Given the description of an element on the screen output the (x, y) to click on. 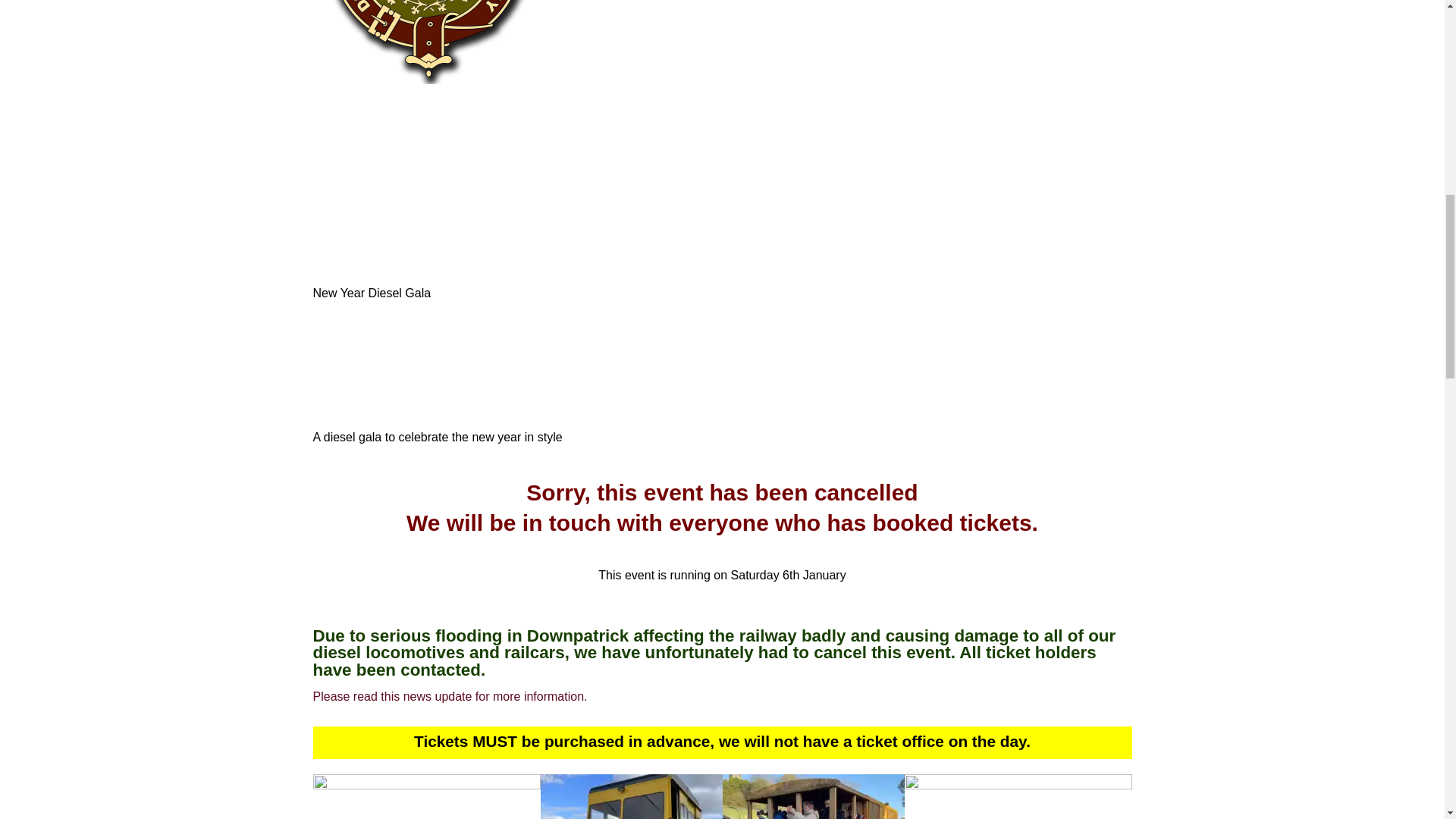
gala-12 (426, 796)
gala-07 (1017, 796)
gala-06 (813, 796)
gala-13 (631, 796)
